Given the description of an element on the screen output the (x, y) to click on. 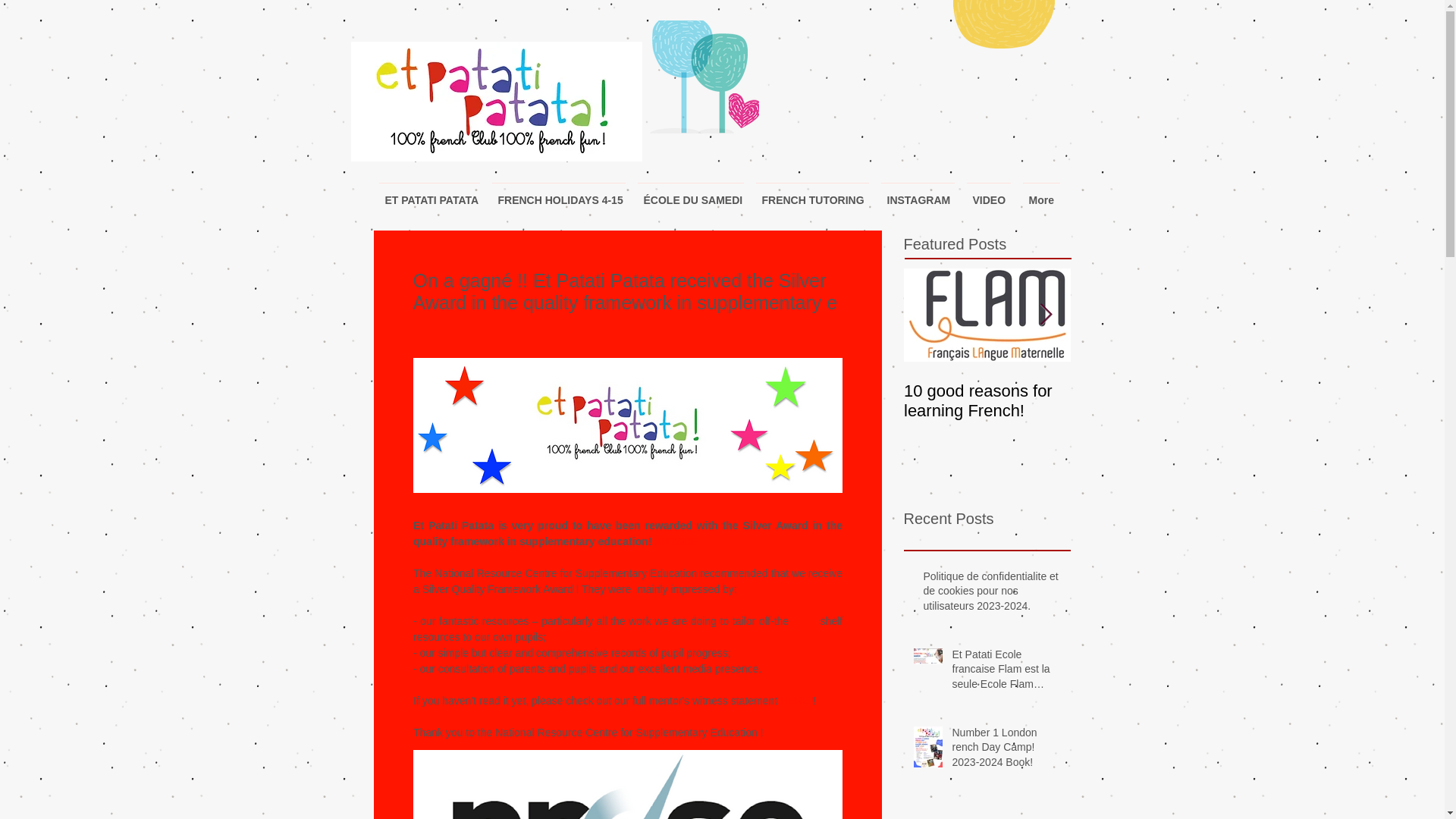
FRENCH HOLIDAYS 4-15 (557, 192)
HERE (793, 700)
Number 1 London rench Day Camp! 2023-2024 Book! (1006, 750)
FRENCH TUTORING (812, 192)
VIDEO (987, 192)
7 Reasons You Should Teach Your Children To Speak French! (1153, 410)
EPPlogo.jpg (496, 101)
10 good reasons for learning French! (987, 400)
